Given the description of an element on the screen output the (x, y) to click on. 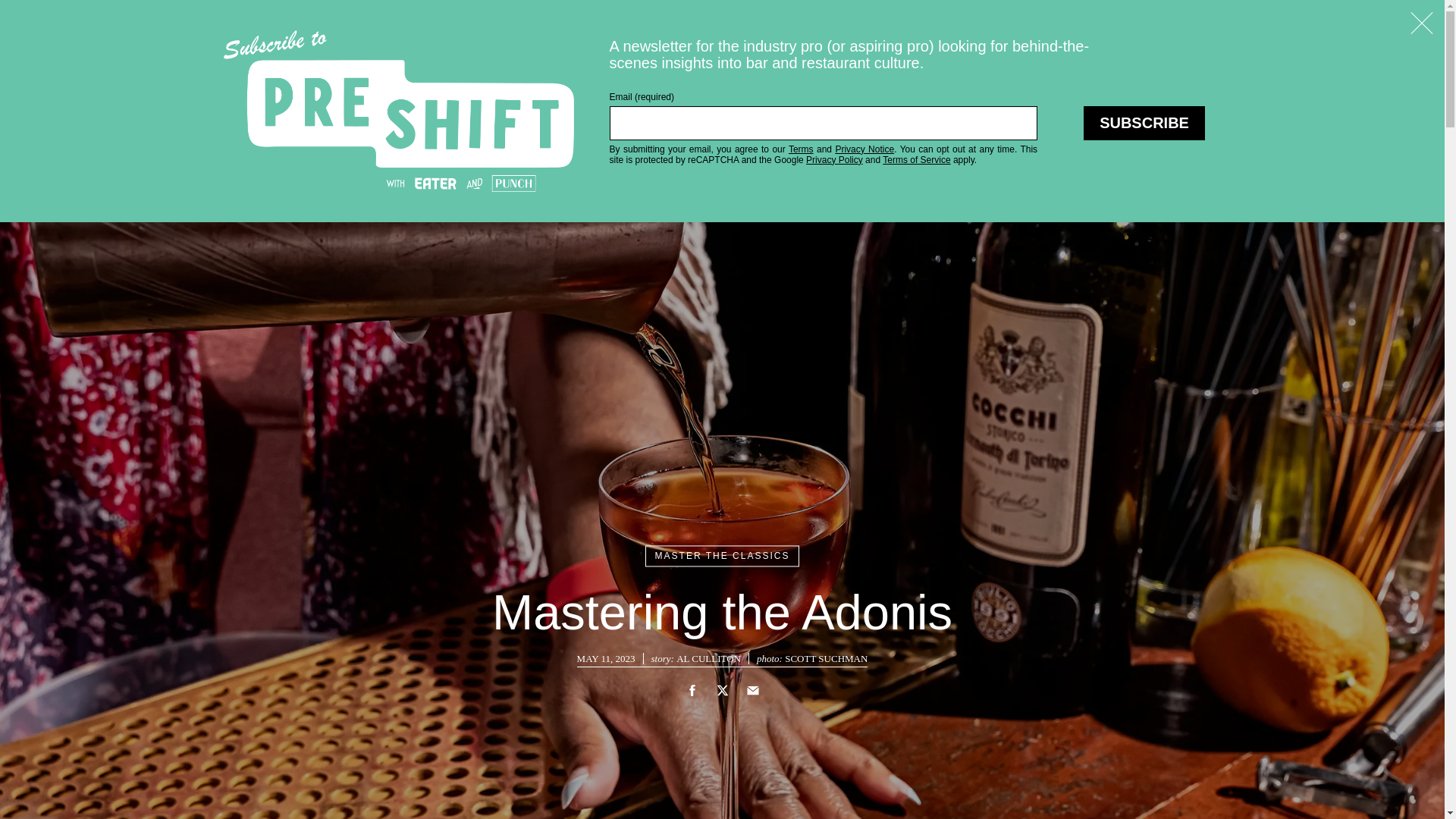
Terms (801, 149)
Privacy Policy (834, 159)
Privacy Notice (863, 149)
x (721, 690)
